Given the description of an element on the screen output the (x, y) to click on. 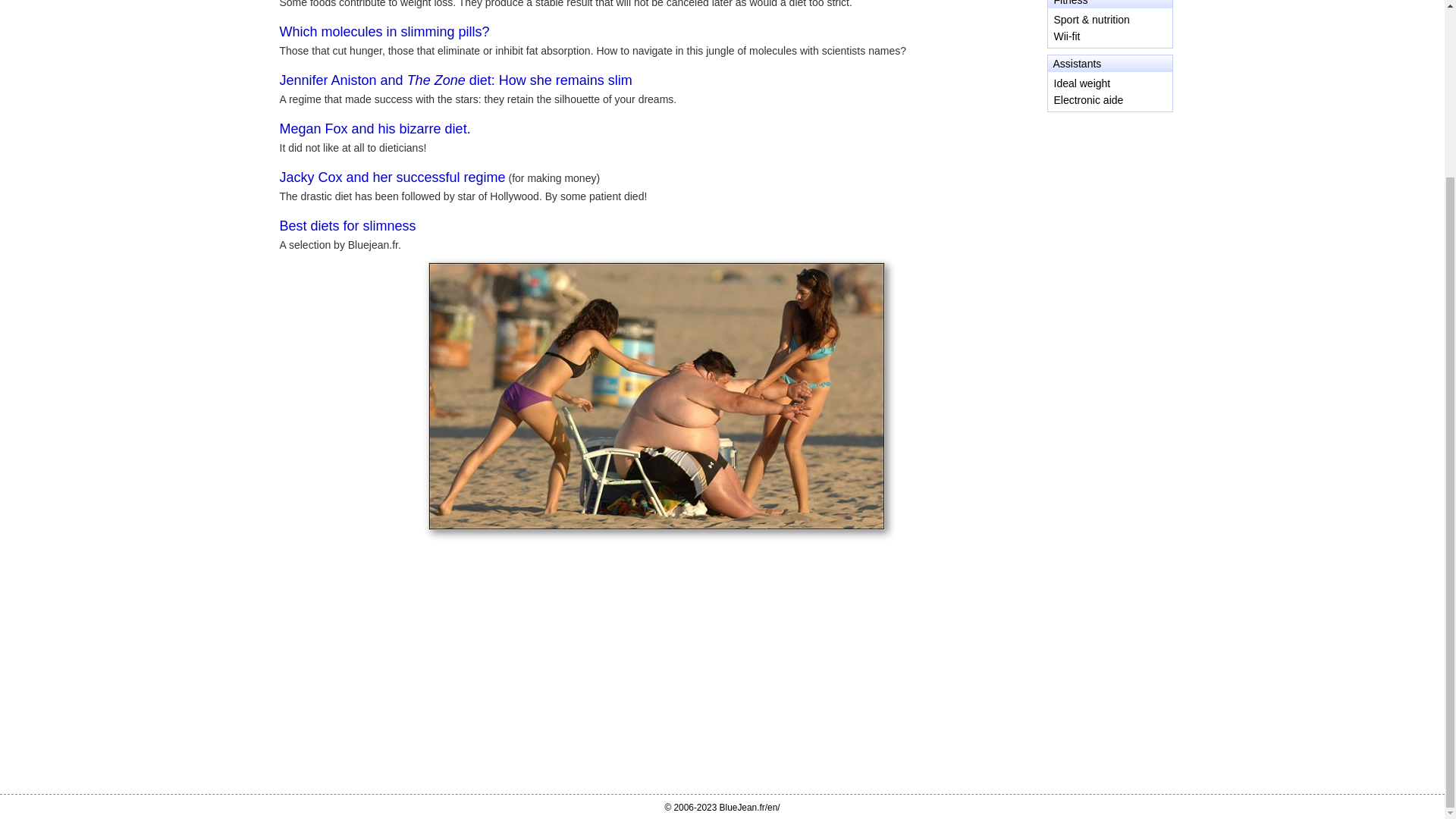
Best diets for slimness (346, 225)
Fitness (1070, 2)
Which molecules in slimming pills? (384, 31)
Megan Fox and his bizarre diet. (374, 128)
Ideal weight (1082, 82)
Advertisement (1108, 179)
Jacky Cox and her successful regime (392, 177)
Wii-fit (1067, 36)
Electronic aide (1089, 100)
Jennifer Aniston and The Zone diet: How she remains slim (455, 79)
